Given the description of an element on the screen output the (x, y) to click on. 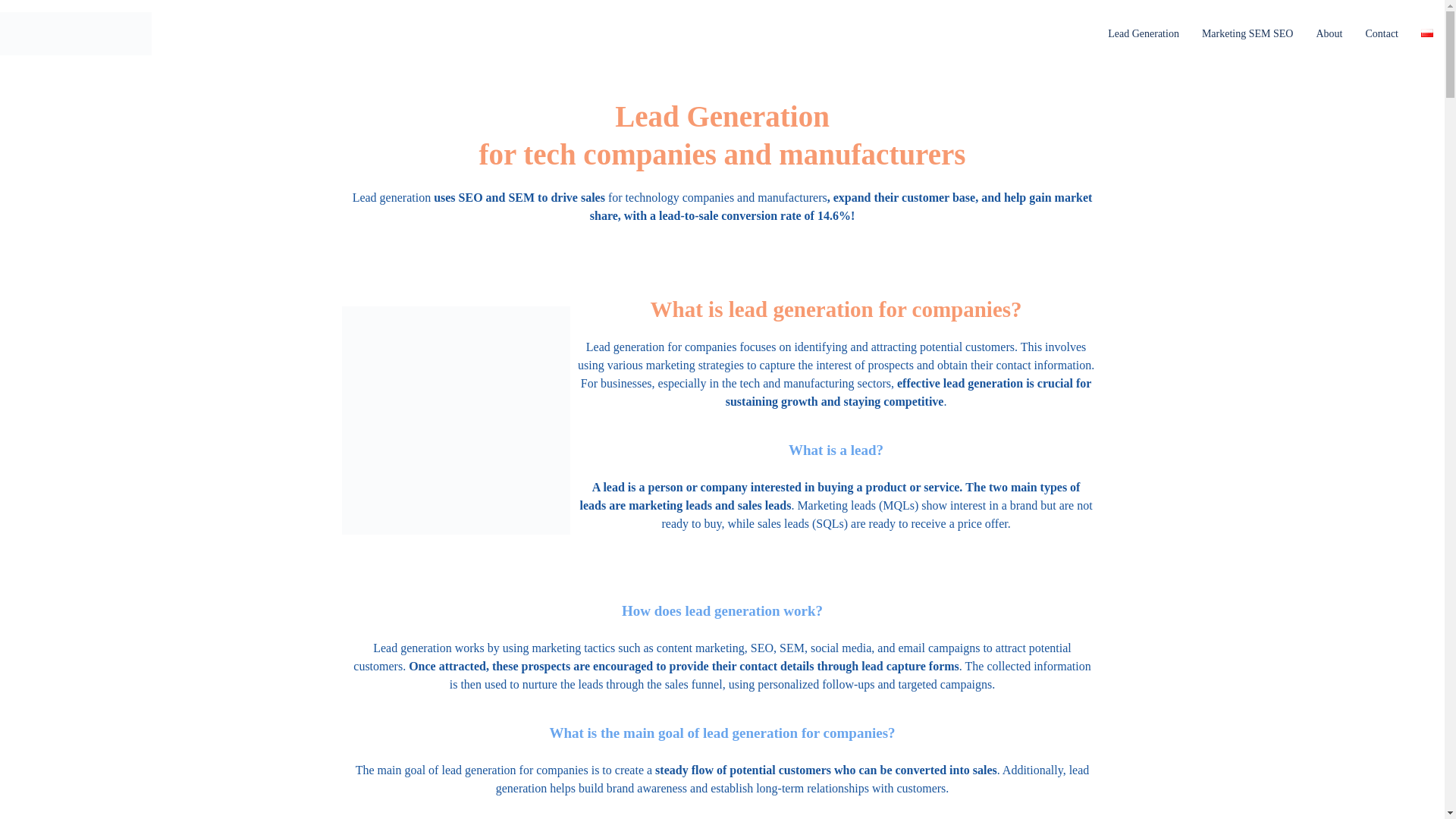
Lead Generation (1143, 33)
Marketing SEM SEO (1247, 33)
Contact (1381, 33)
About (1329, 33)
